Given the description of an element on the screen output the (x, y) to click on. 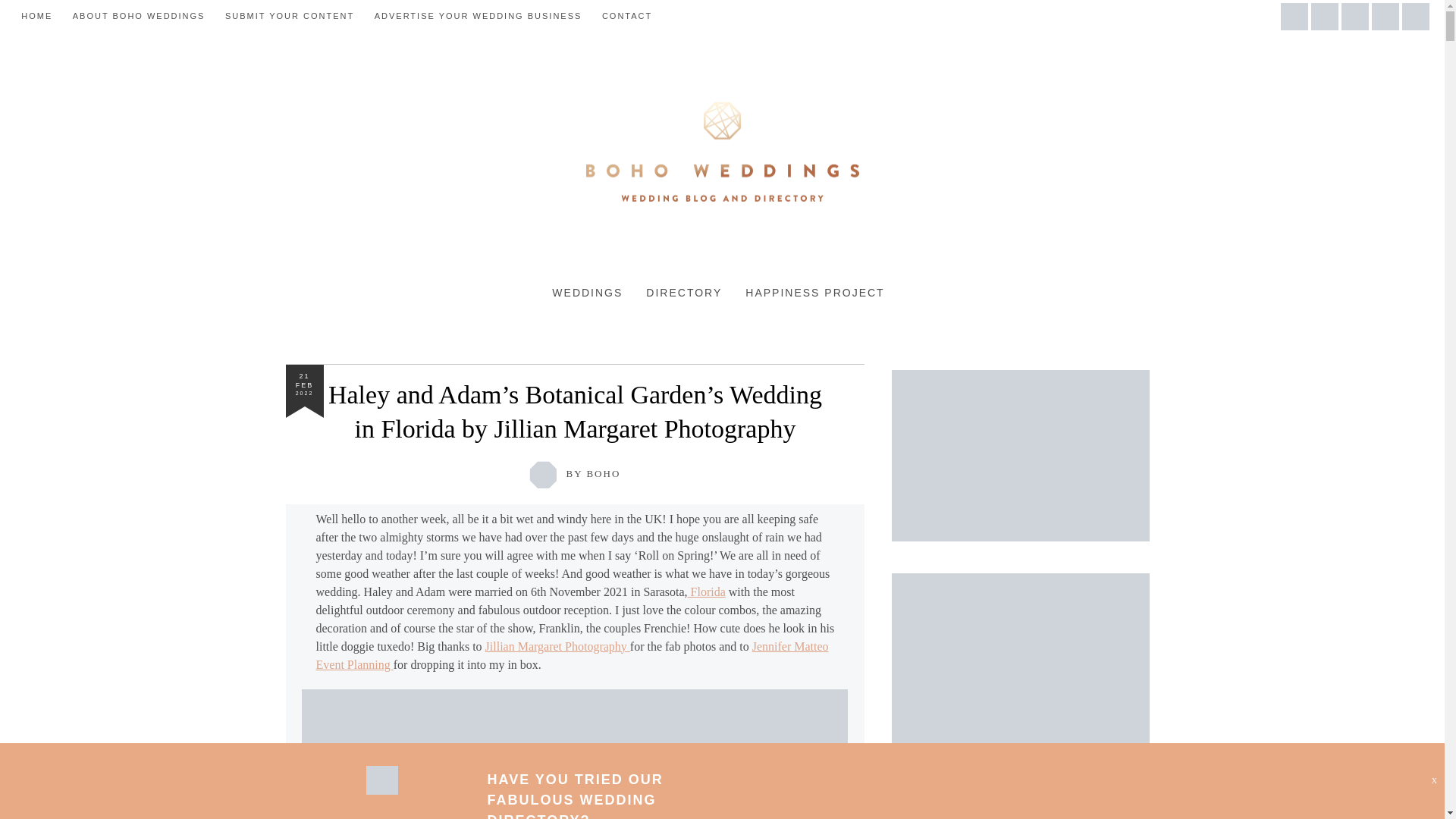
HOME (36, 16)
Why not visit our Supplier Directory (1020, 658)
HAPPINESS PROJECT (815, 292)
ADVERTISE YOUR WEDDING BUSINESS (478, 16)
WEDDINGS (587, 292)
ABOUT BOHO WEDDINGS (138, 16)
Have you tried our fabulous wedding directory? (574, 795)
Have you tried our fabulous wedding directory? (381, 789)
SUBMIT YOUR CONTENT (290, 16)
CONTACT (627, 16)
